Given the description of an element on the screen output the (x, y) to click on. 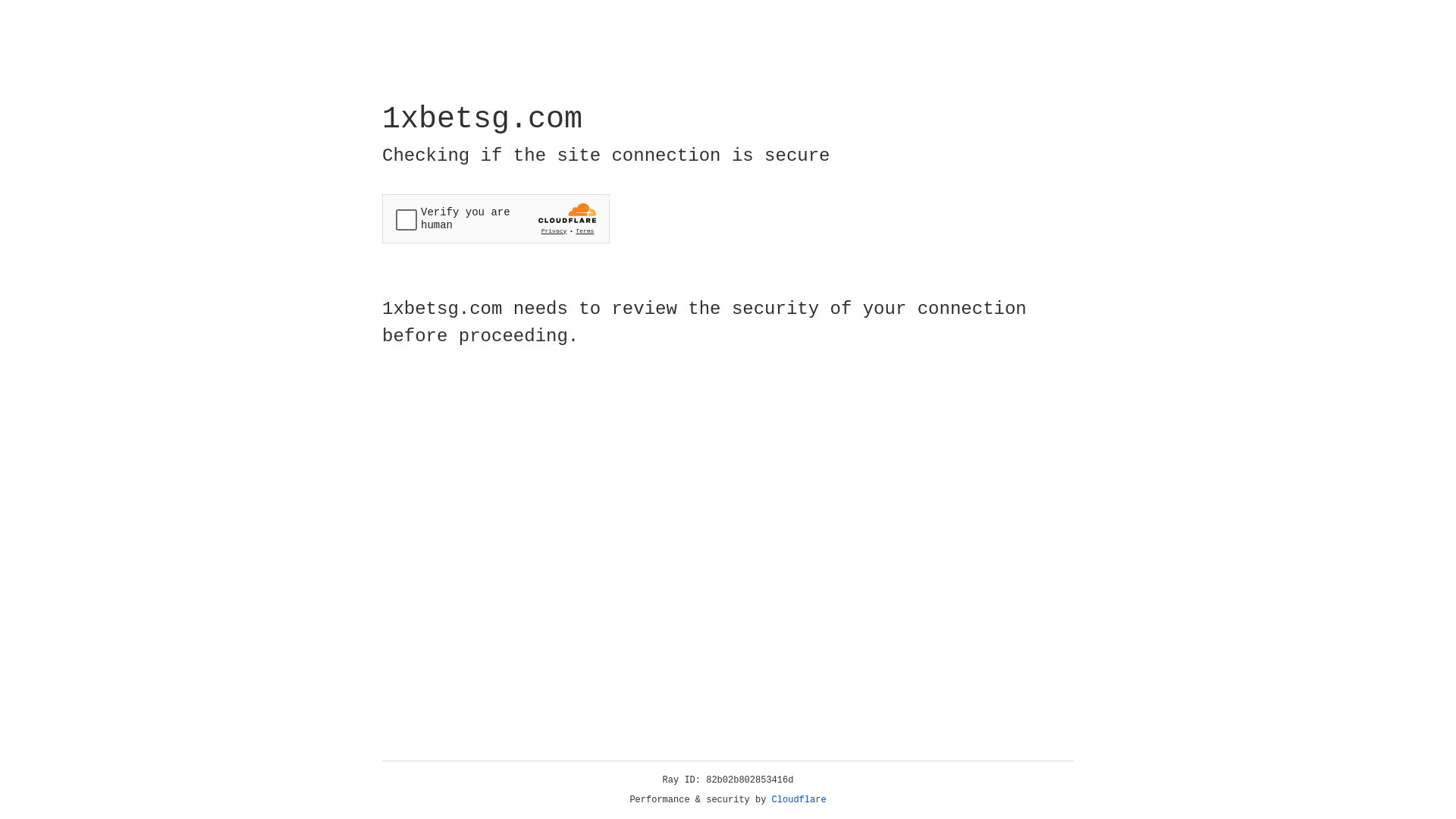
Widget containing a Cloudflare security challenge Element type: hover (495, 218)
Cloudflare Element type: text (798, 799)
